Given the description of an element on the screen output the (x, y) to click on. 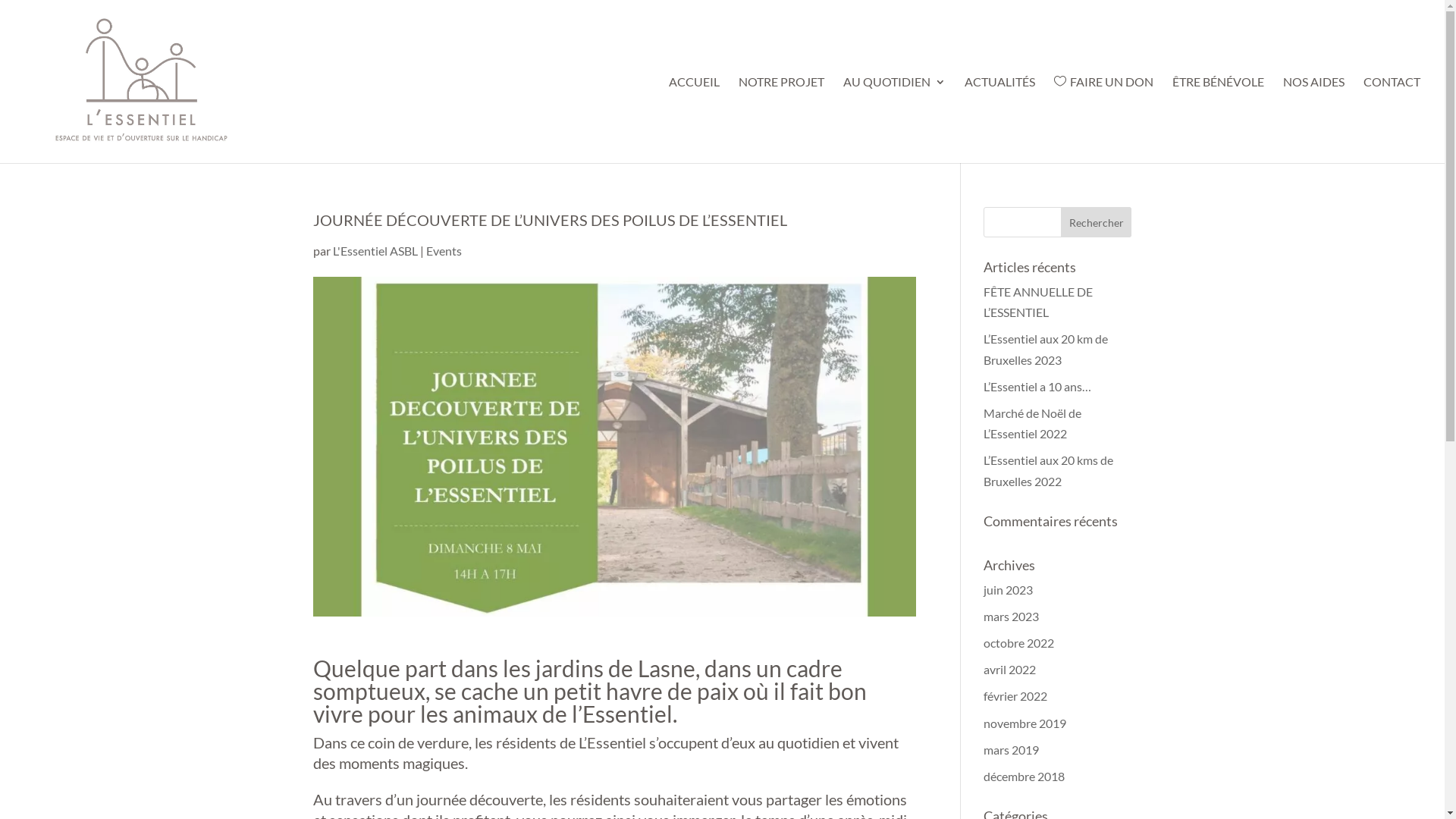
CONTACT Element type: text (1391, 119)
FAIRE UN DON Element type: text (1103, 119)
NOS AIDES Element type: text (1313, 119)
AU QUOTIDIEN Element type: text (894, 119)
avril 2022 Element type: text (1009, 669)
L'Essentiel ASBL Element type: text (374, 250)
novembre 2019 Element type: text (1024, 722)
ACCUEIL Element type: text (693, 119)
Rechercher Element type: text (1096, 222)
mars 2019 Element type: text (1010, 749)
NOTRE PROJET Element type: text (781, 119)
juin 2023 Element type: text (1007, 589)
Events Element type: text (443, 250)
octobre 2022 Element type: text (1018, 642)
mars 2023 Element type: text (1010, 615)
